Given the description of an element on the screen output the (x, y) to click on. 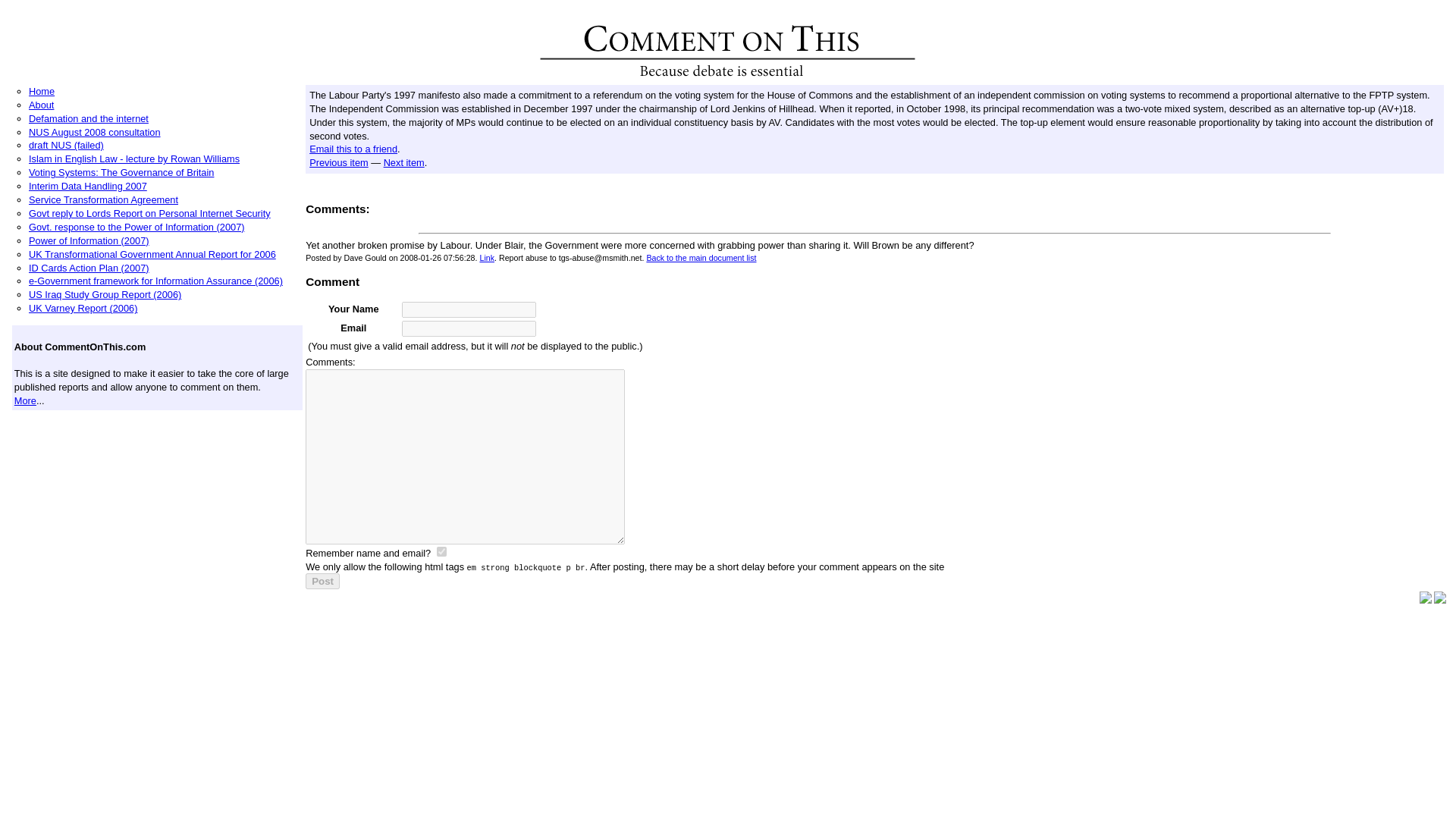
Interim Data Handling 2007 (88, 185)
on (441, 551)
Islam in English Law - lecture by Rowan Williams (134, 158)
Post (322, 580)
Service Transformation Agreement (103, 199)
About (41, 104)
More (25, 400)
Next item (404, 162)
Post (322, 580)
Voting Systems: The Governance of Britain (121, 172)
Previous item (338, 162)
Home (42, 91)
Email this to a friend (352, 148)
NUS August 2008 consultation (94, 132)
UK Transformational Government Annual Report for 2006 (152, 254)
